Given the description of an element on the screen output the (x, y) to click on. 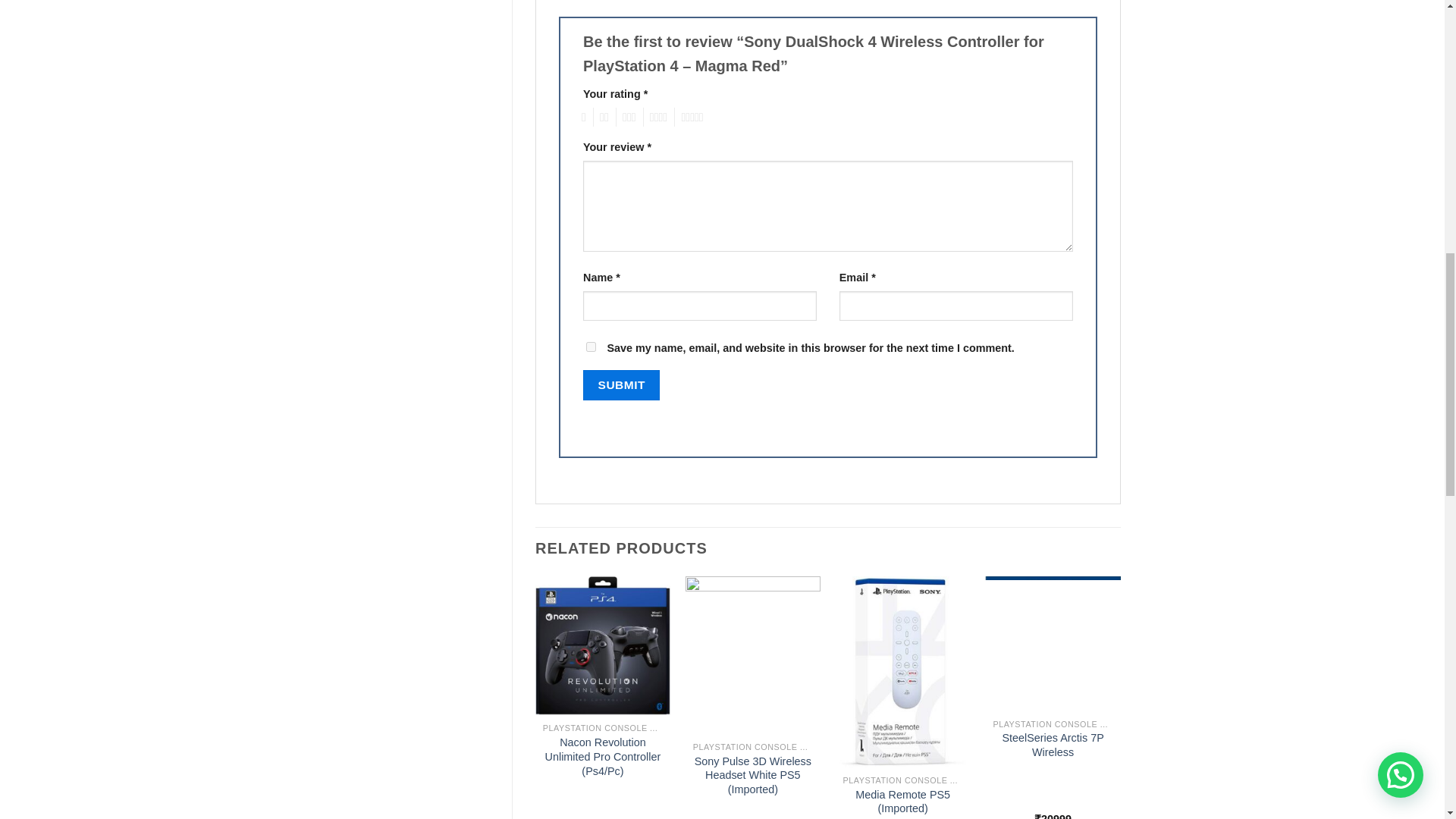
Submit (621, 384)
yes (590, 347)
